Given the description of an element on the screen output the (x, y) to click on. 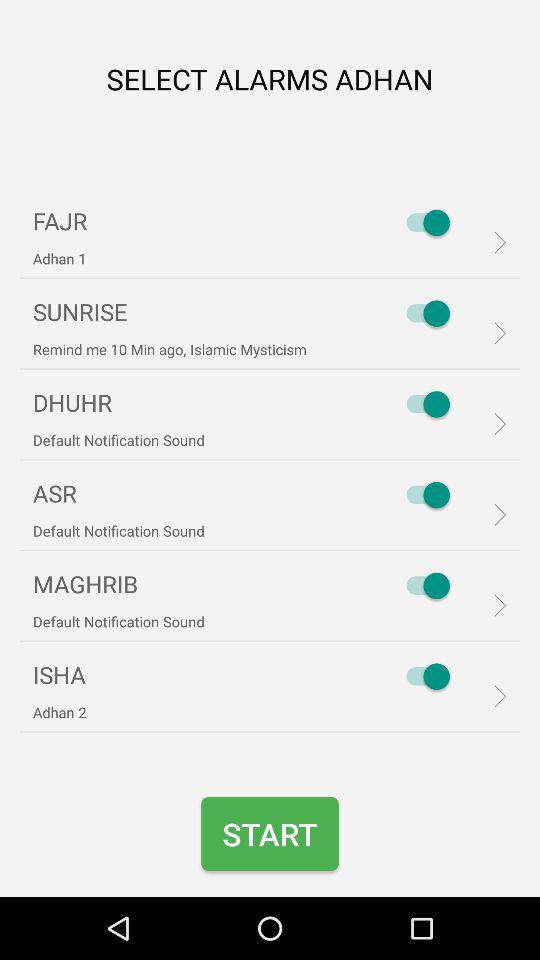
on-off (423, 676)
